Given the description of an element on the screen output the (x, y) to click on. 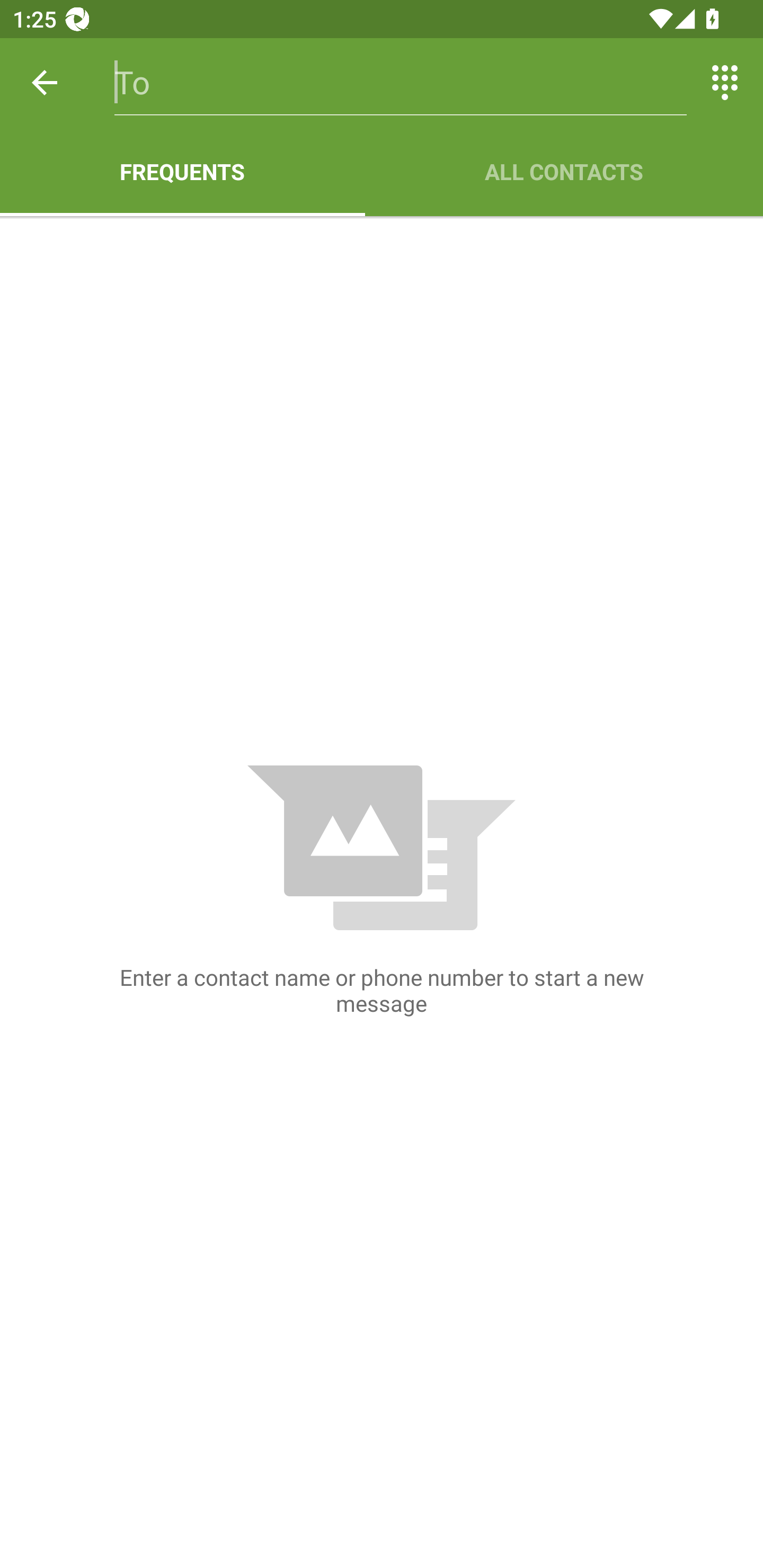
Back (44, 82)
Switch between entering text and numbers (724, 81)
To (400, 82)
FREQUENTS (182, 171)
ALL CONTACTS (563, 171)
